Given the description of an element on the screen output the (x, y) to click on. 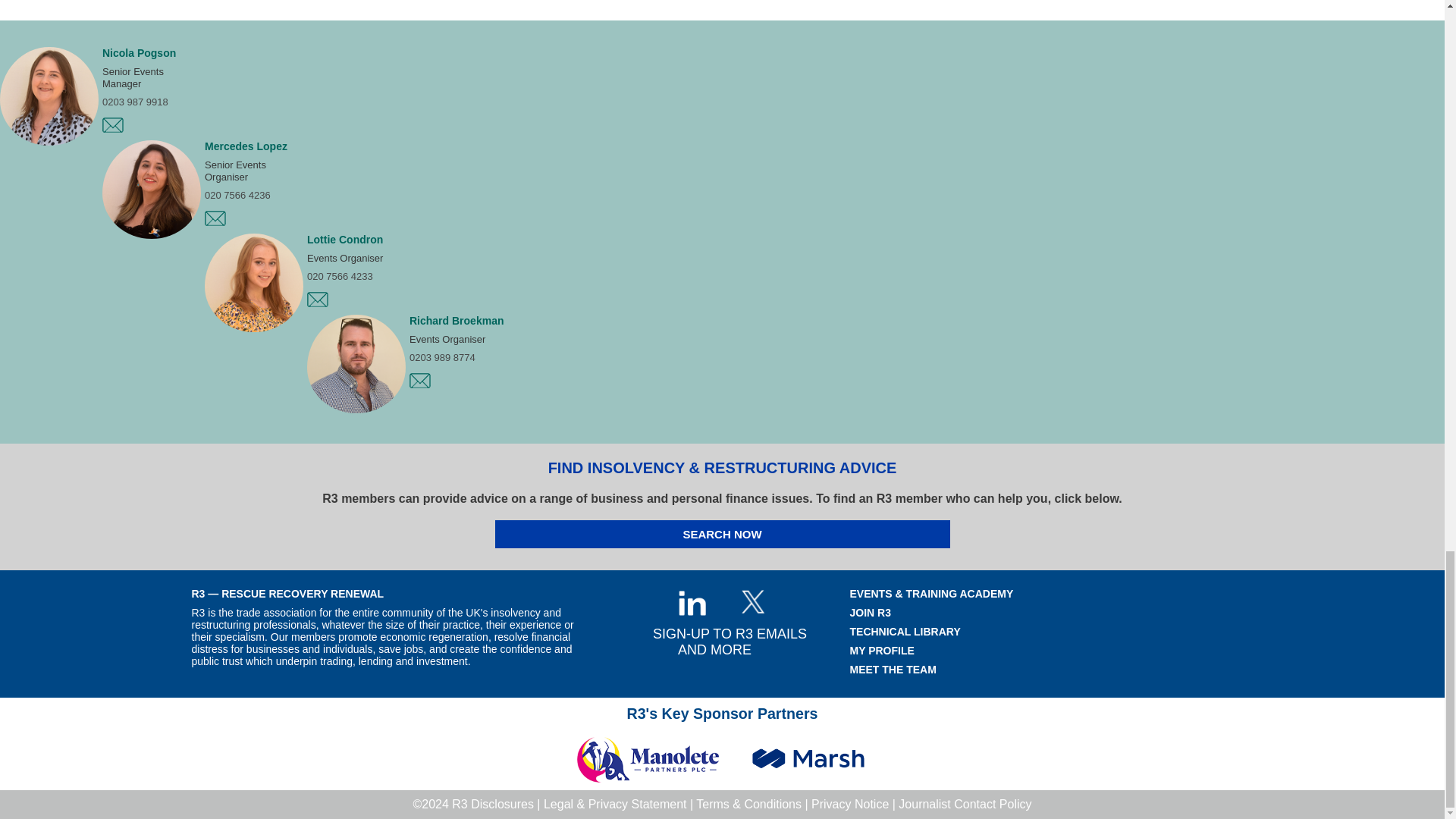
Linked In (691, 602)
Twitter (751, 601)
